Given the description of an element on the screen output the (x, y) to click on. 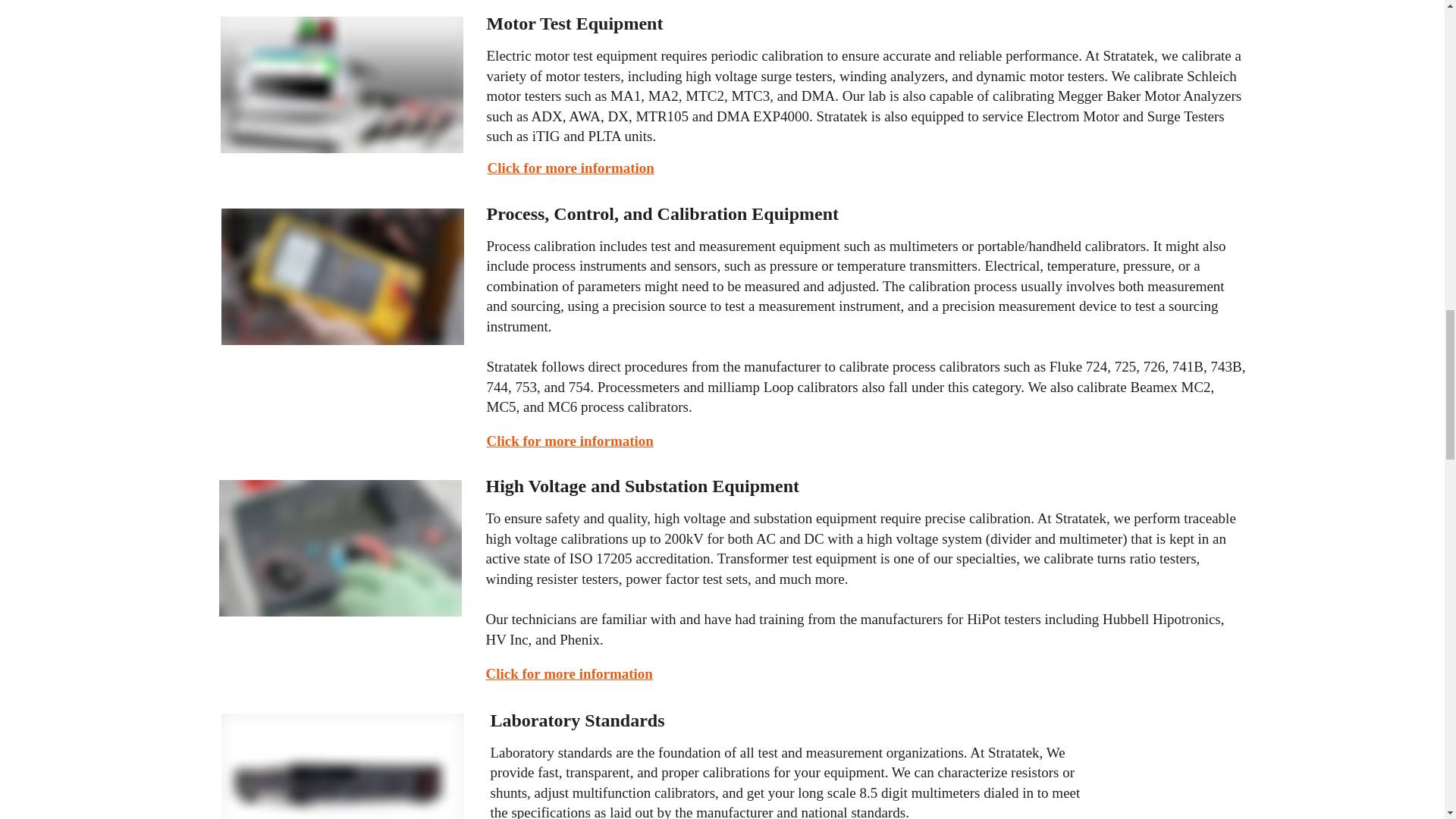
Motor Test Equipment Calibration and Repair (341, 84)
High Voltage and Substation Equipment Repair and Calibration (339, 547)
Laboratory Standards Calibration and Repair (342, 766)
